Given the description of an element on the screen output the (x, y) to click on. 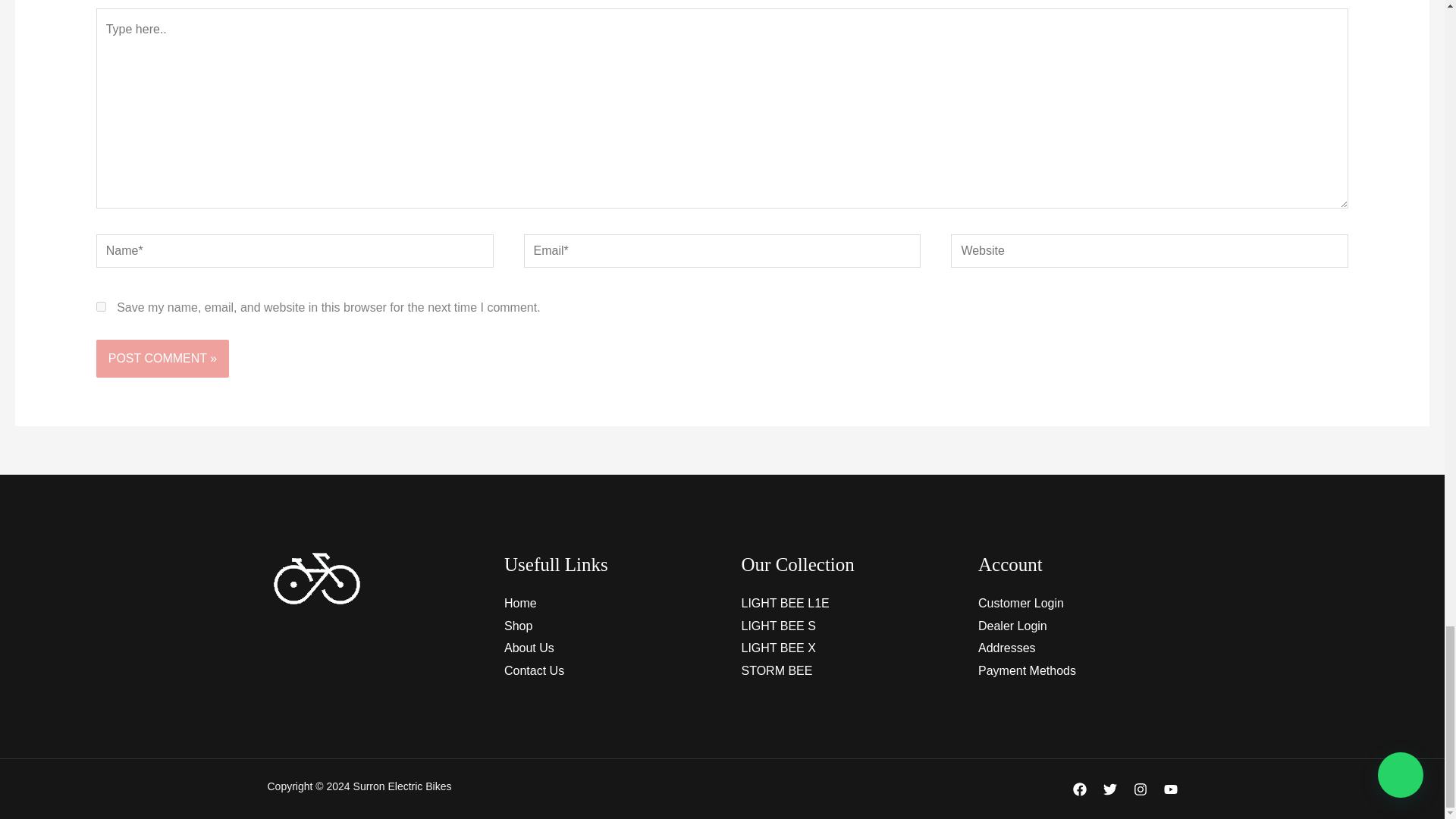
About Us (528, 647)
Contact Us (533, 670)
yes (101, 307)
Home (520, 603)
Shop (517, 625)
